Given the description of an element on the screen output the (x, y) to click on. 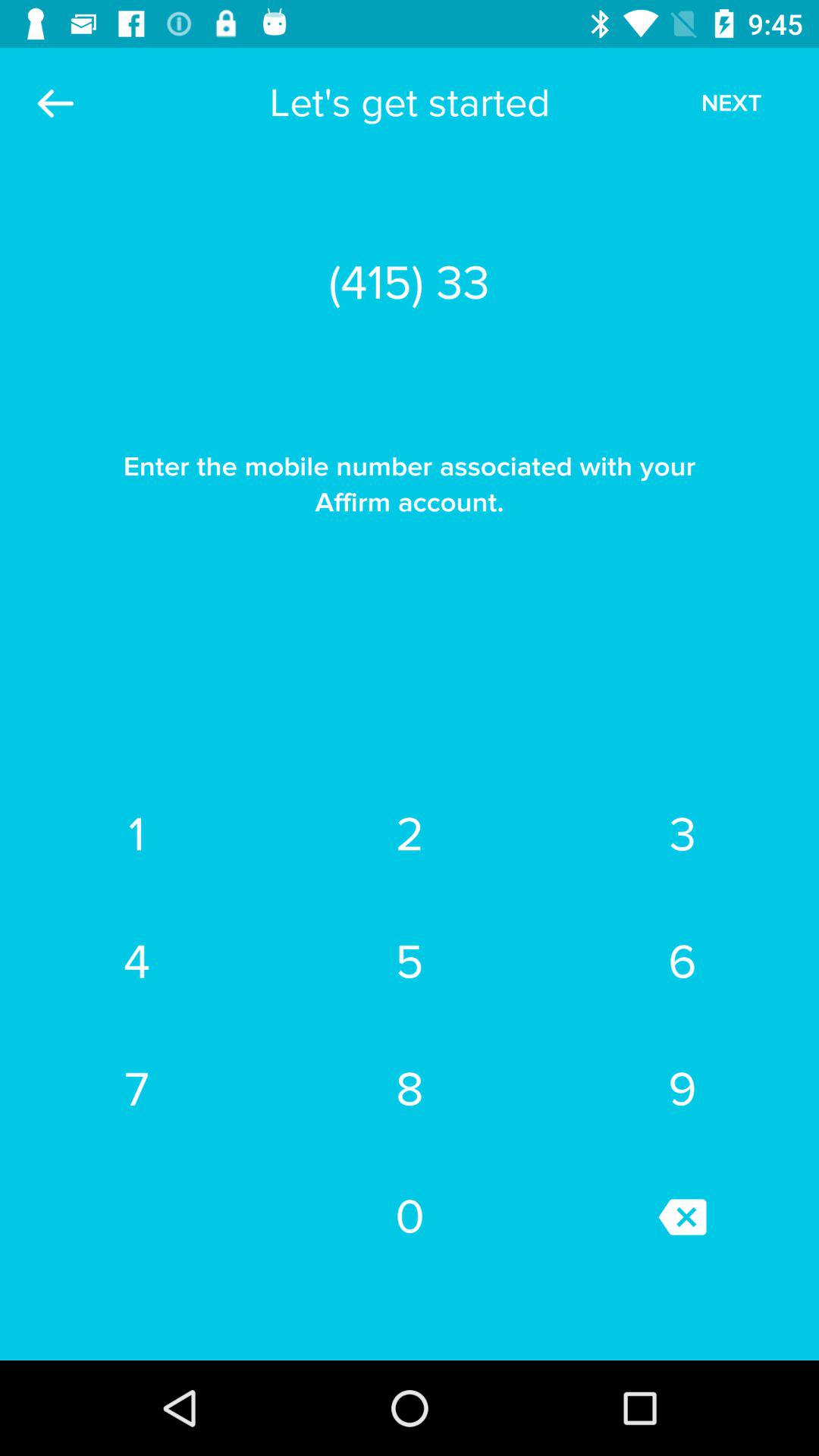
press the item next to the 2 item (136, 962)
